Given the description of an element on the screen output the (x, y) to click on. 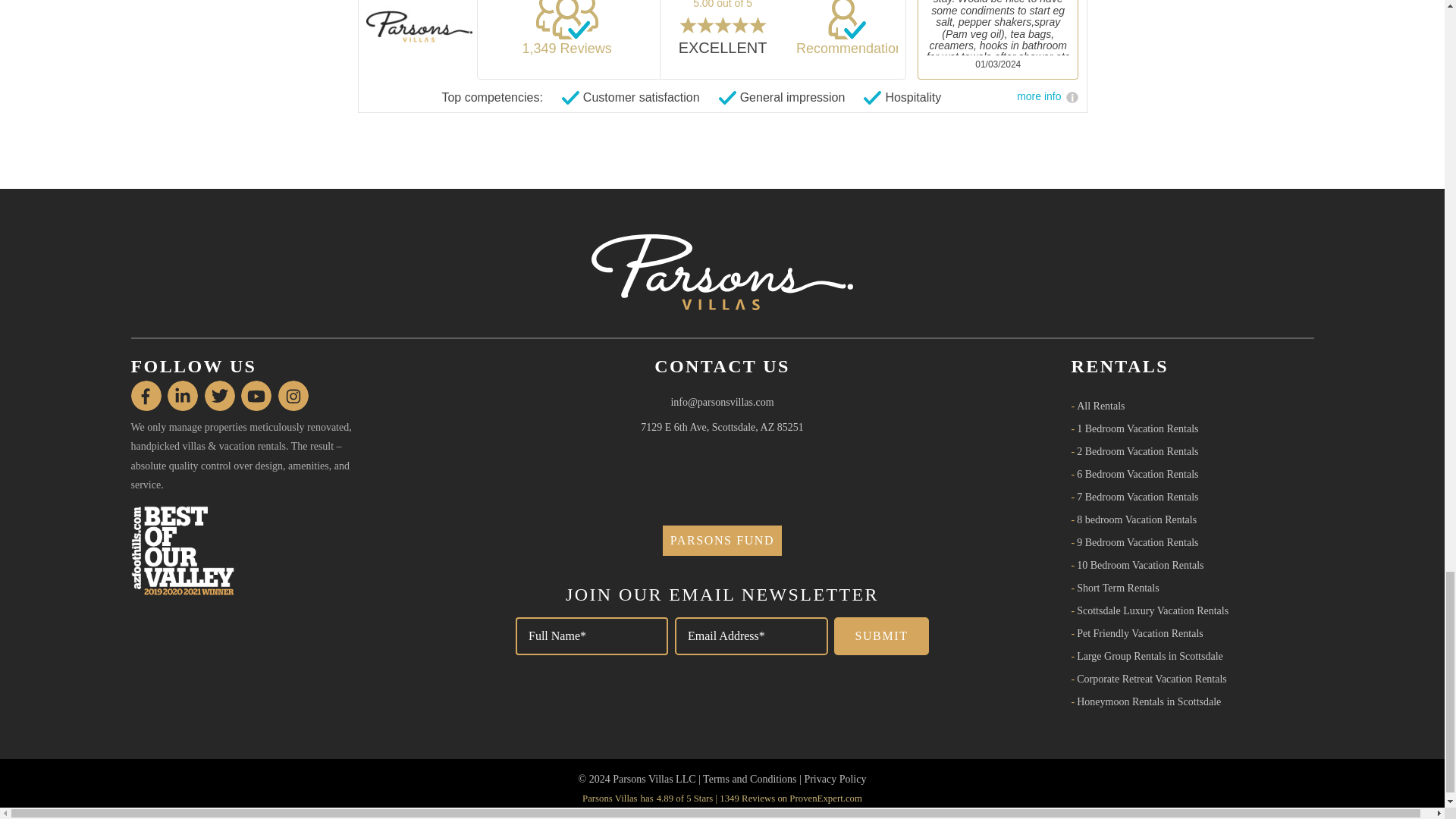
Submit (881, 636)
